Given the description of an element on the screen output the (x, y) to click on. 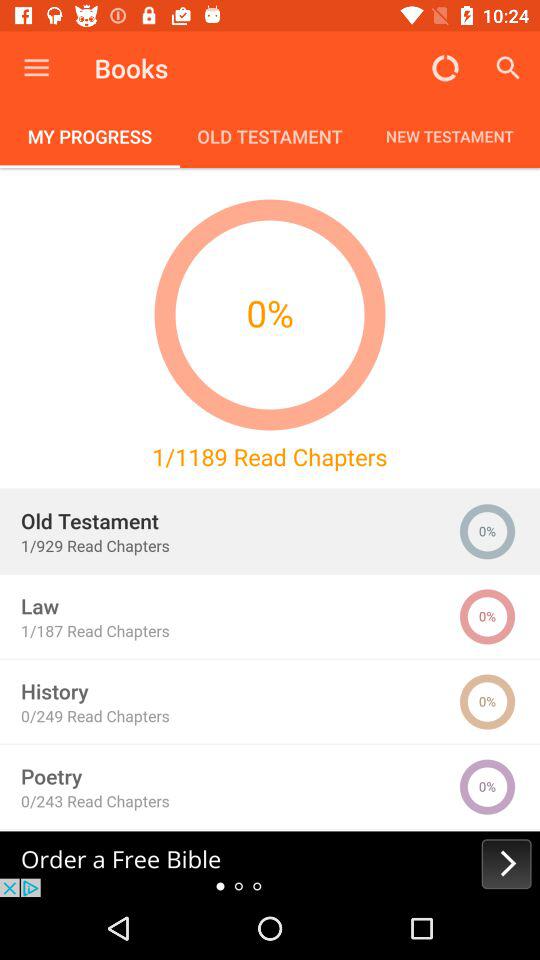
follow the banner (270, 864)
